Given the description of an element on the screen output the (x, y) to click on. 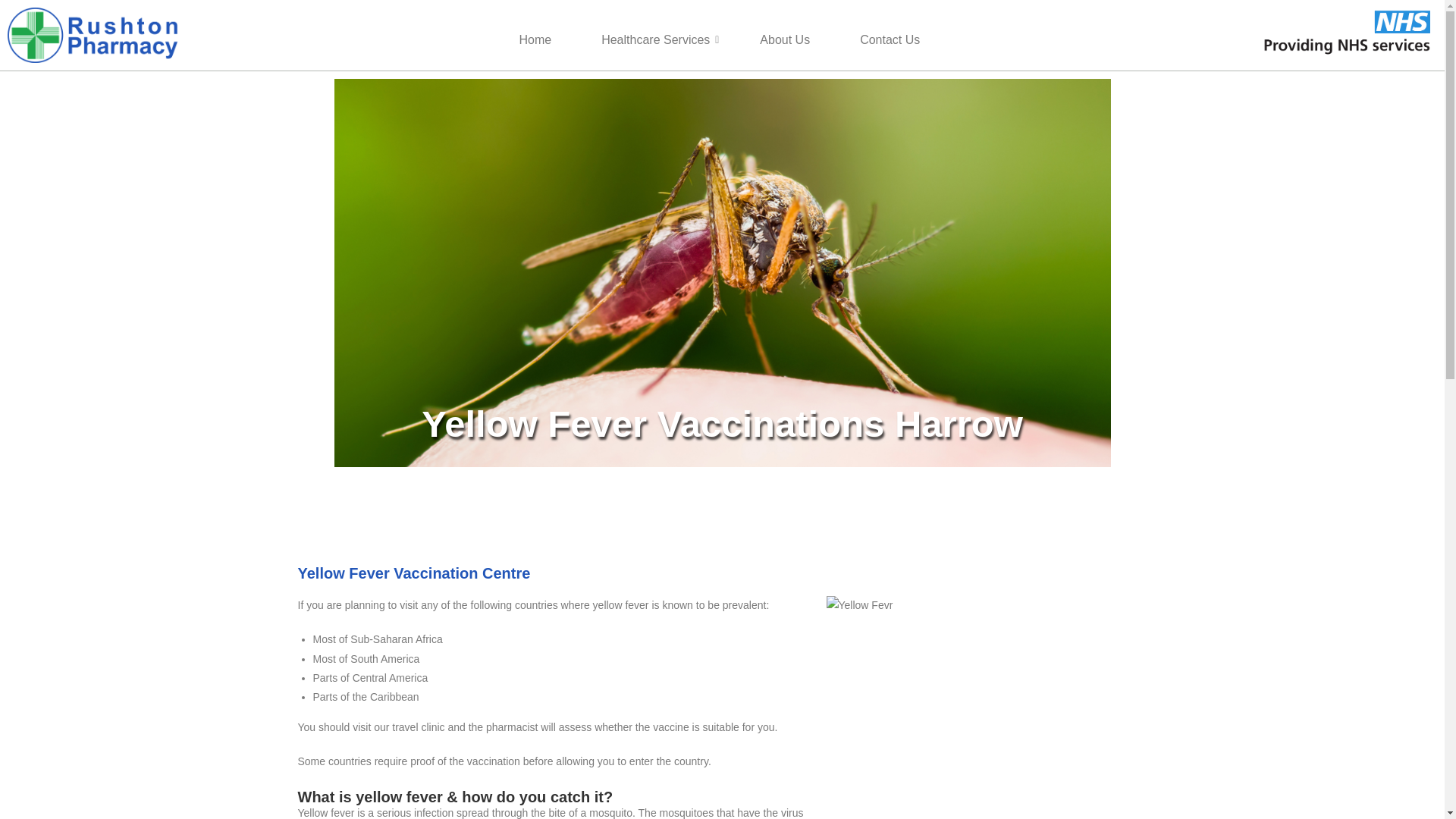
About Us (784, 40)
Home (534, 40)
Healthcare Services (655, 40)
Contact Us (889, 40)
